Given the description of an element on the screen output the (x, y) to click on. 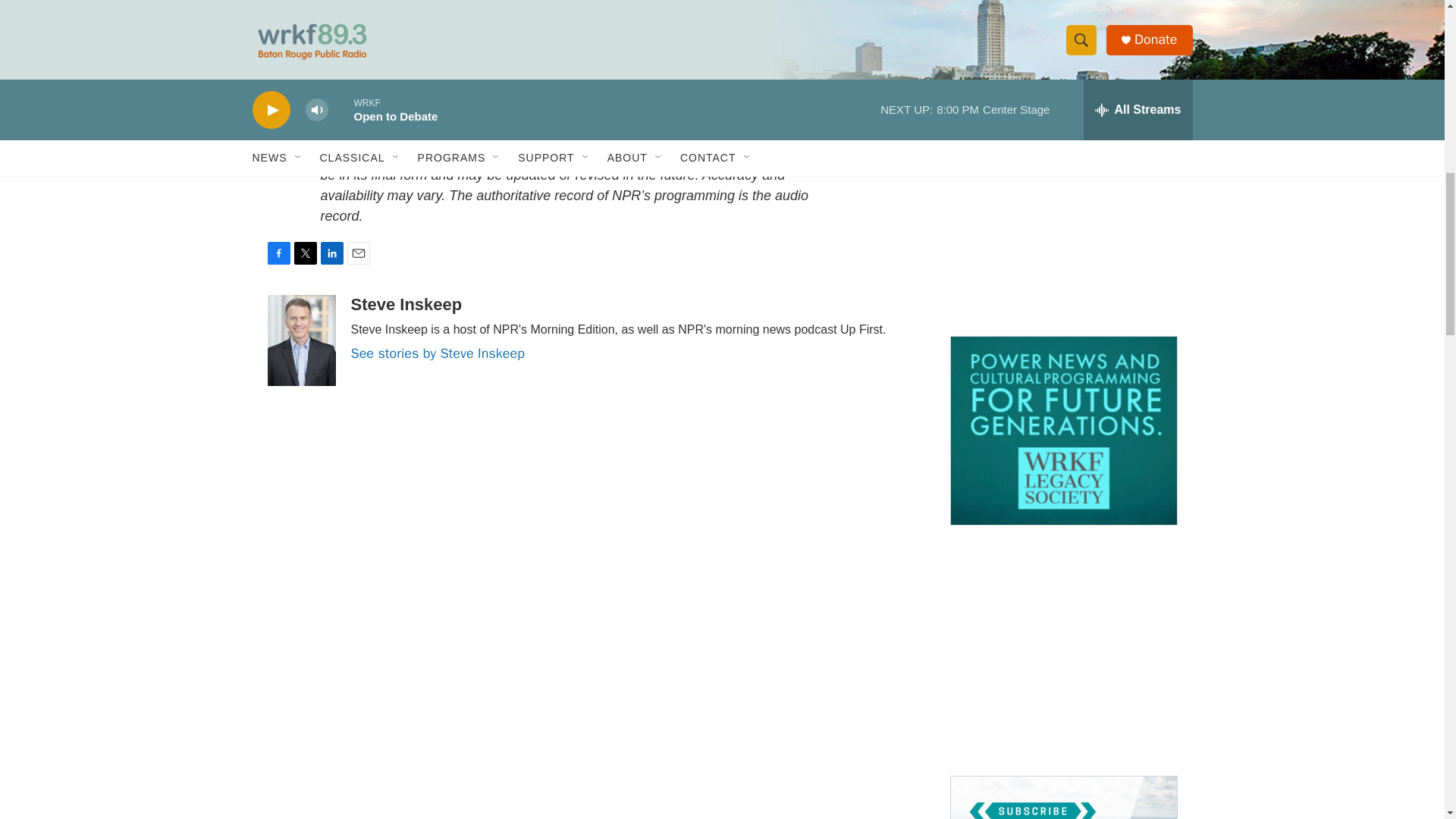
3rd party ad content (1062, 210)
3rd party ad content (1062, 650)
